Given the description of an element on the screen output the (x, y) to click on. 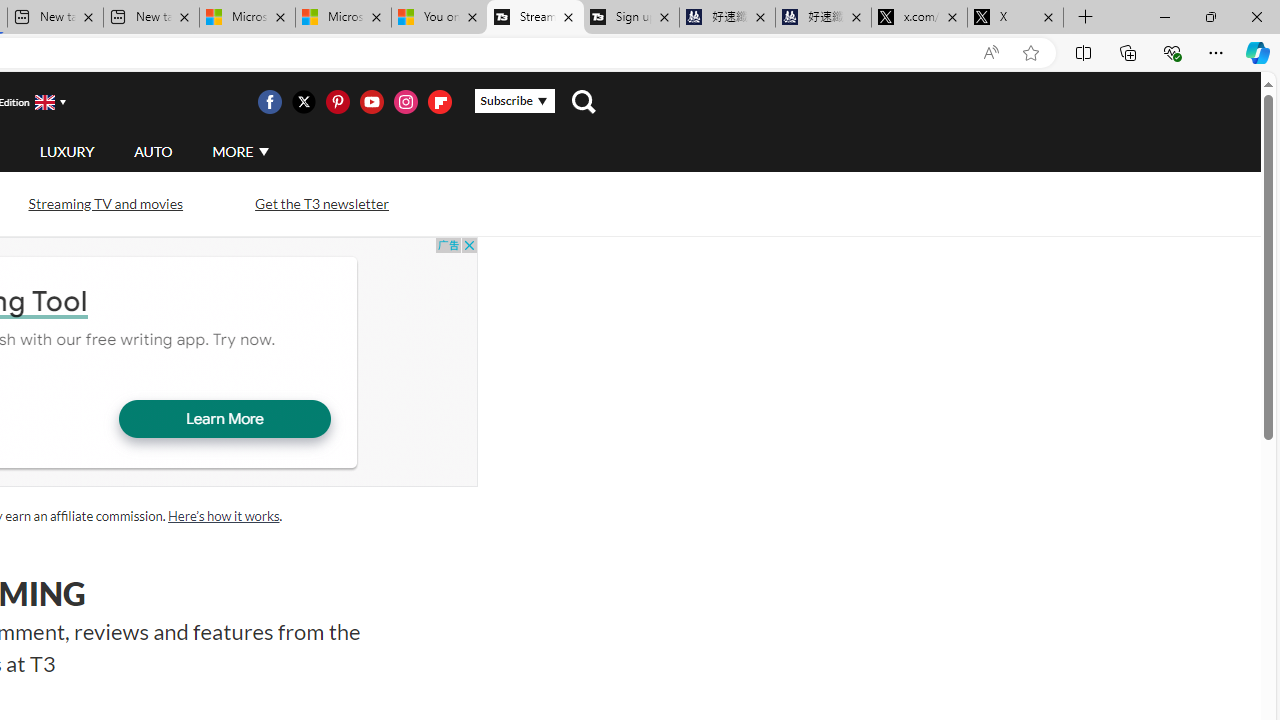
Visit us on Facebook (269, 101)
X (1015, 17)
flag of UK (44, 102)
LUXURY (66, 151)
Class: svg-arrow-down (264, 151)
Streaming Coverage | T3 (534, 17)
